Given the description of an element on the screen output the (x, y) to click on. 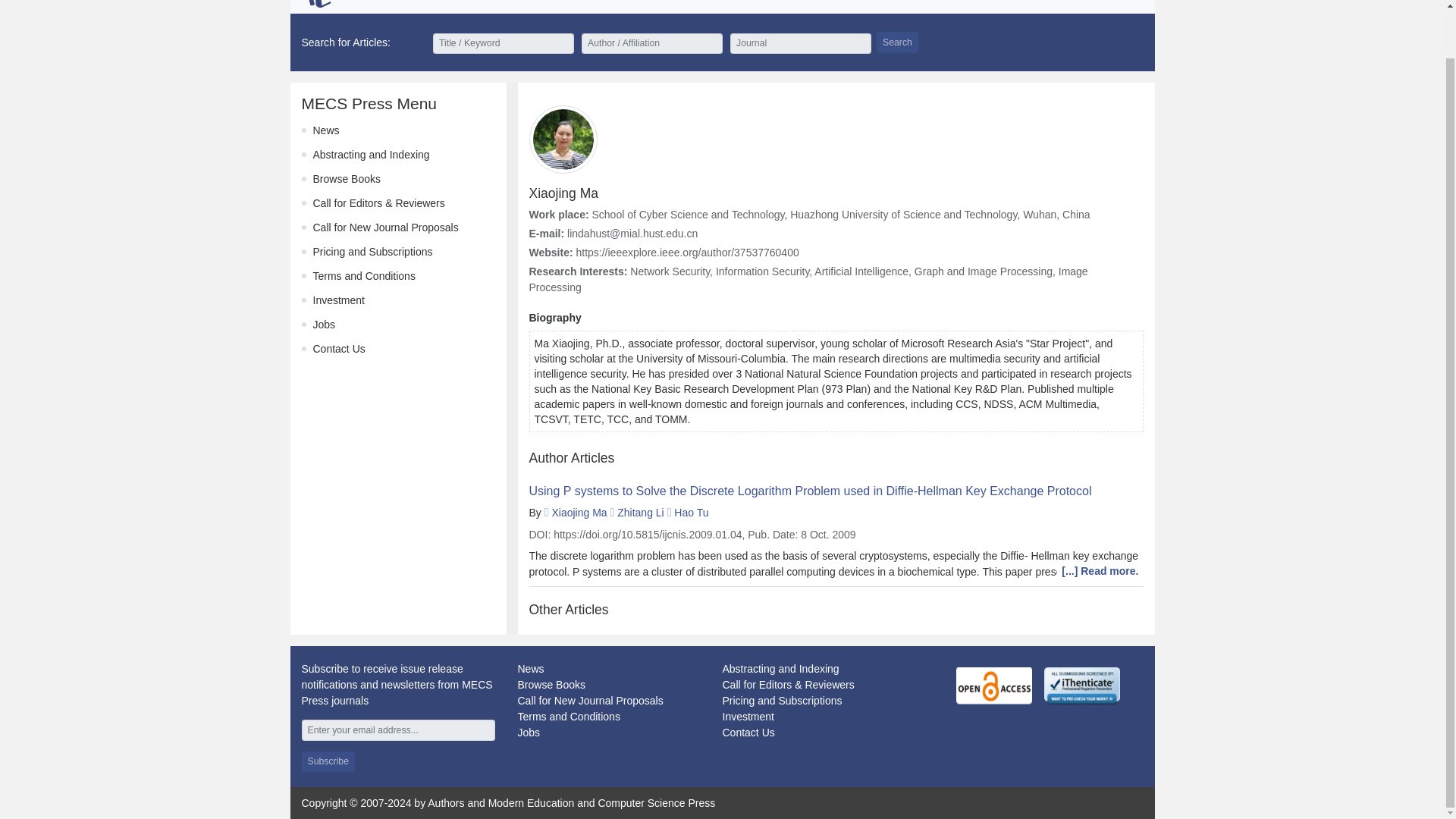
Zhitang Li (640, 512)
Hao Tu (690, 512)
Jobs (528, 732)
News (326, 130)
Jobs (323, 324)
Abstracting and Indexing (780, 668)
Call for New Journal Proposals (385, 227)
Search (897, 41)
Abstracting and Indexing (371, 154)
Xiaojing Ma (579, 512)
